Given the description of an element on the screen output the (x, y) to click on. 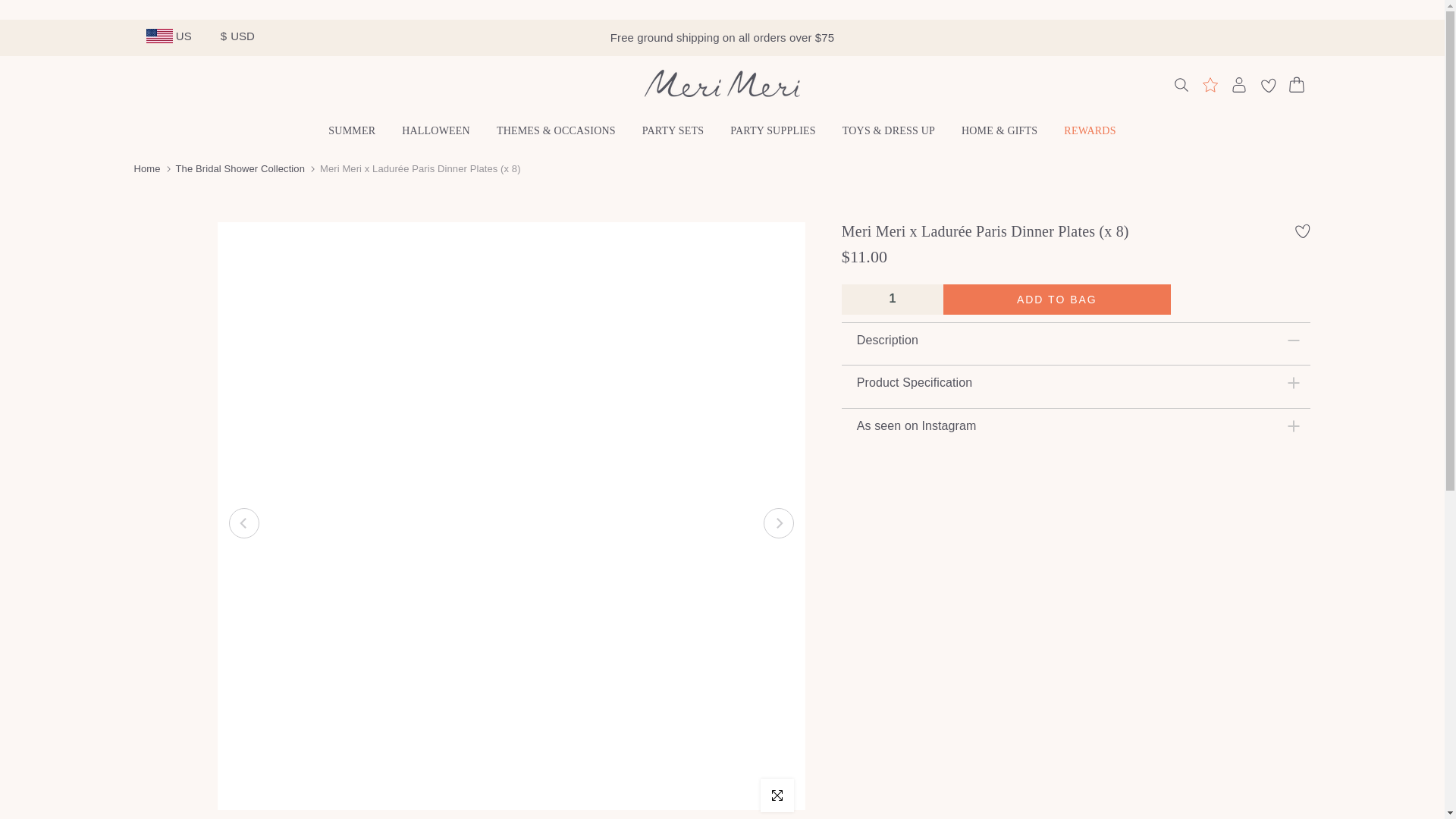
SUMMER (351, 131)
HALLOWEEN (435, 131)
1 (892, 298)
PARTY SETS (672, 131)
The Bridal Shower Collection (240, 168)
Product Specification (1076, 382)
As seen on Instagram (1076, 425)
ADD TO BAG (1056, 299)
Home (146, 168)
REWARDS (1090, 131)
Party Perks landing page for rewards (1209, 84)
Description (1076, 339)
PARTY SUPPLIES (773, 131)
Skip to Content (14, 7)
